Given the description of an element on the screen output the (x, y) to click on. 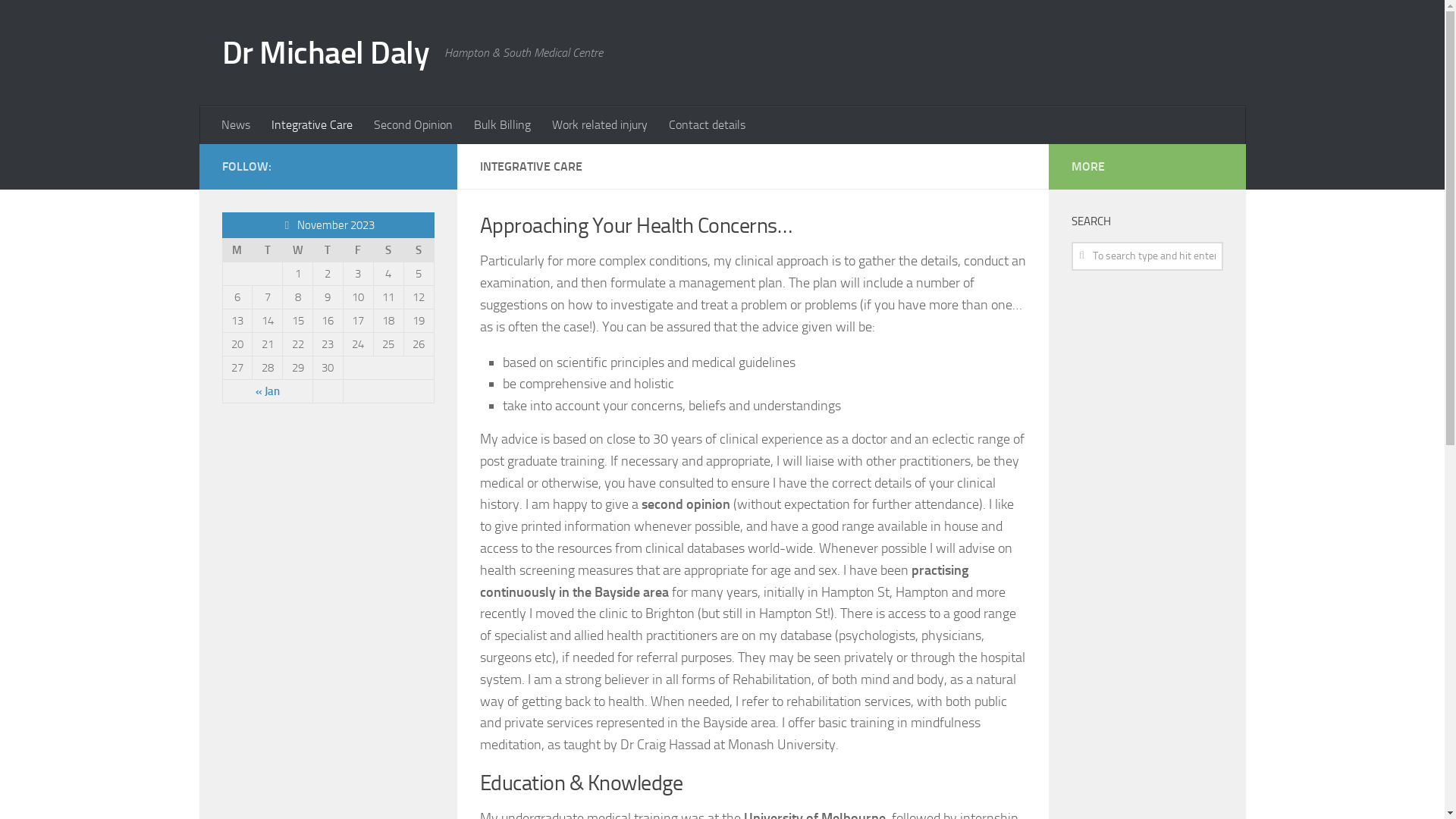
Contact details Element type: text (707, 125)
Integrative Care Element type: text (311, 125)
News Element type: text (235, 125)
Bulk Billing Element type: text (501, 125)
Second Opinion Element type: text (412, 125)
Dr Michael Daly Element type: text (325, 52)
Work related injury Element type: text (599, 125)
